Given the description of an element on the screen output the (x, y) to click on. 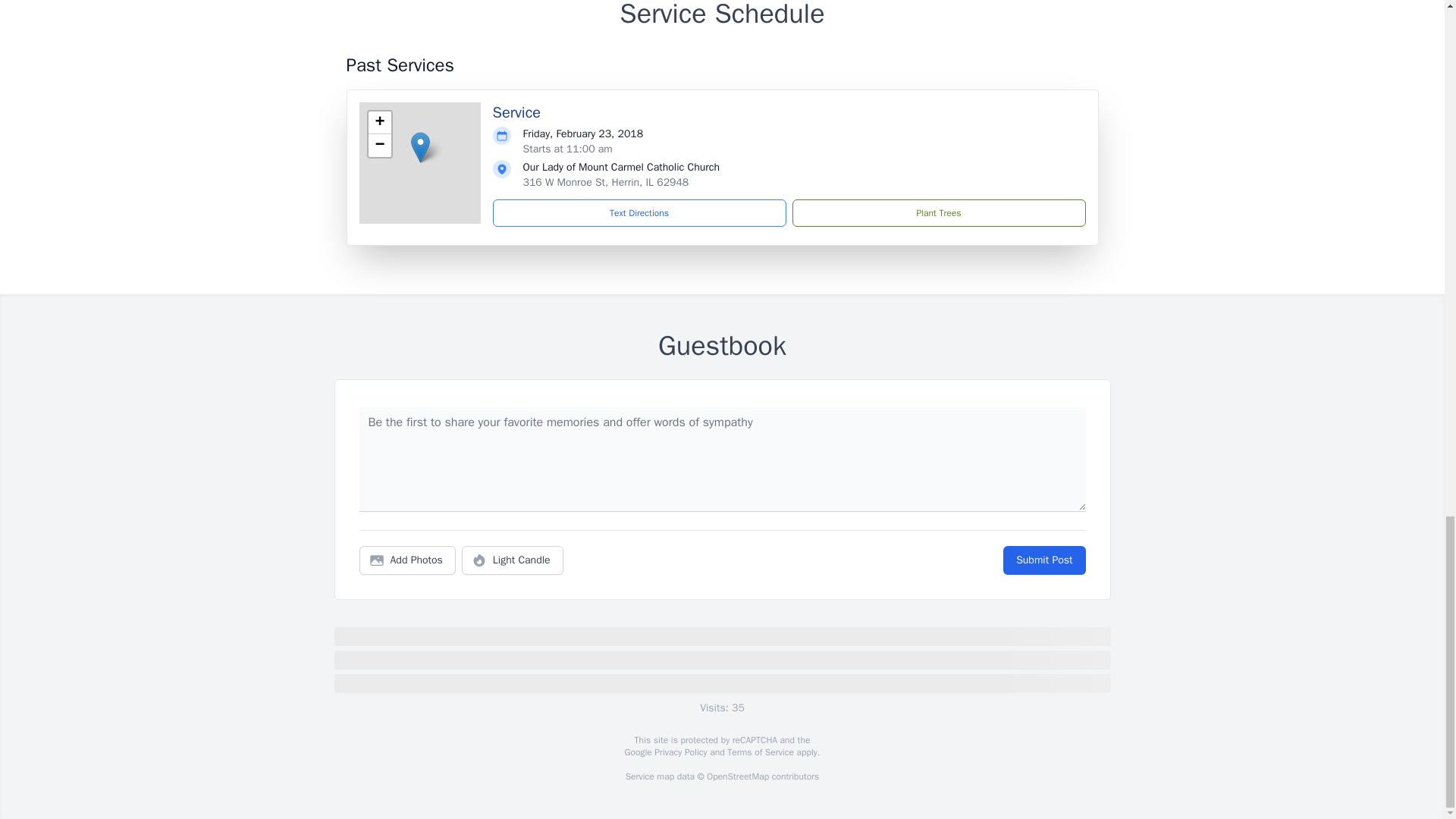
Plant Trees (938, 212)
316 W Monroe St, Herrin, IL 62948 (605, 182)
Zoom out (379, 145)
Privacy Policy (679, 752)
Submit Post (1043, 560)
Light Candle (512, 560)
Zoom in (379, 122)
Text Directions (639, 212)
Add Photos (407, 560)
OpenStreetMap (737, 776)
Terms of Service (759, 752)
